Given the description of an element on the screen output the (x, y) to click on. 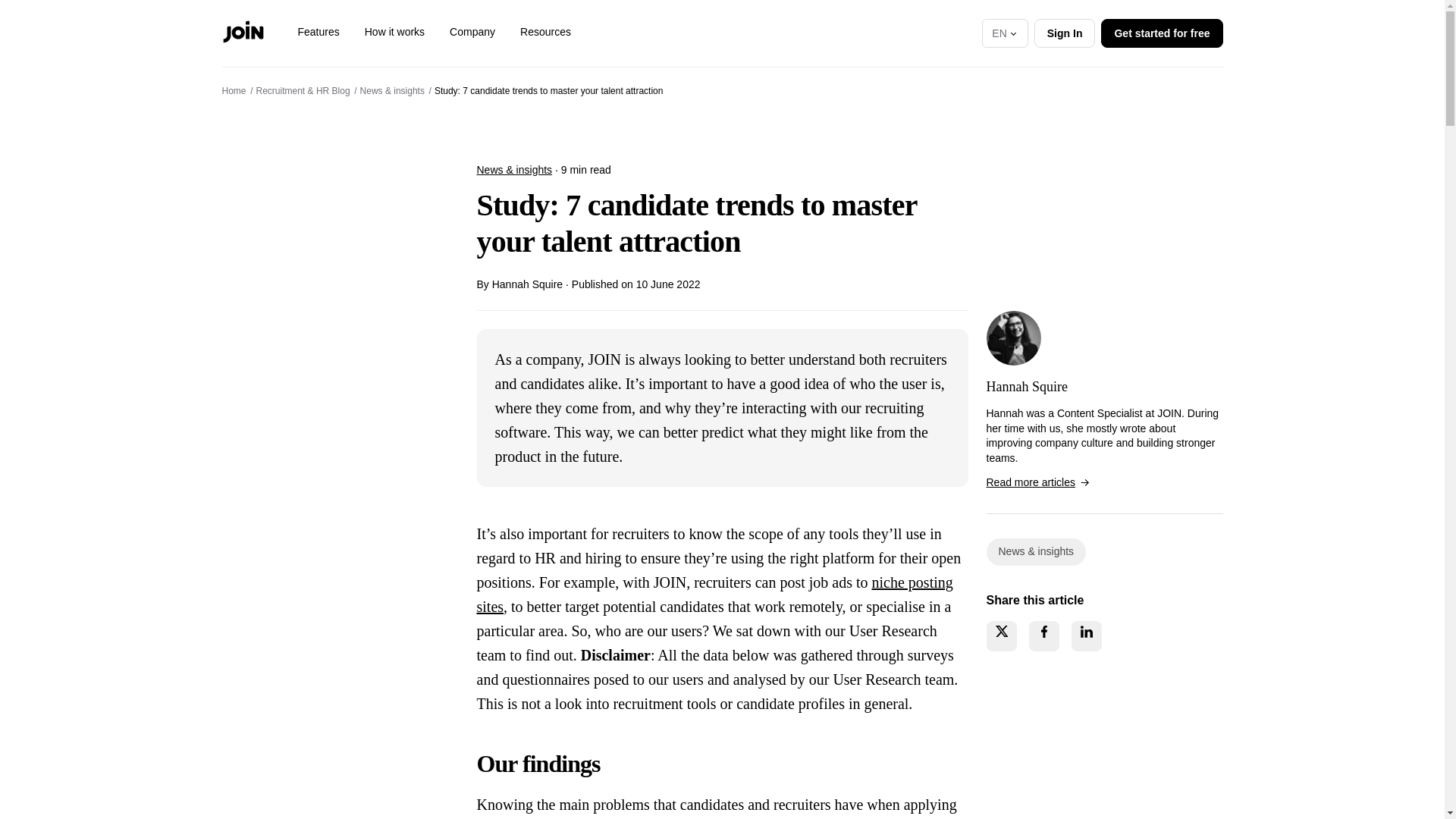
Home (233, 90)
Get started for free (1161, 32)
How it works (394, 32)
Features (317, 32)
Resources (545, 32)
Hannah Squire (1013, 338)
Company (472, 32)
Sign In (1064, 32)
